Given the description of an element on the screen output the (x, y) to click on. 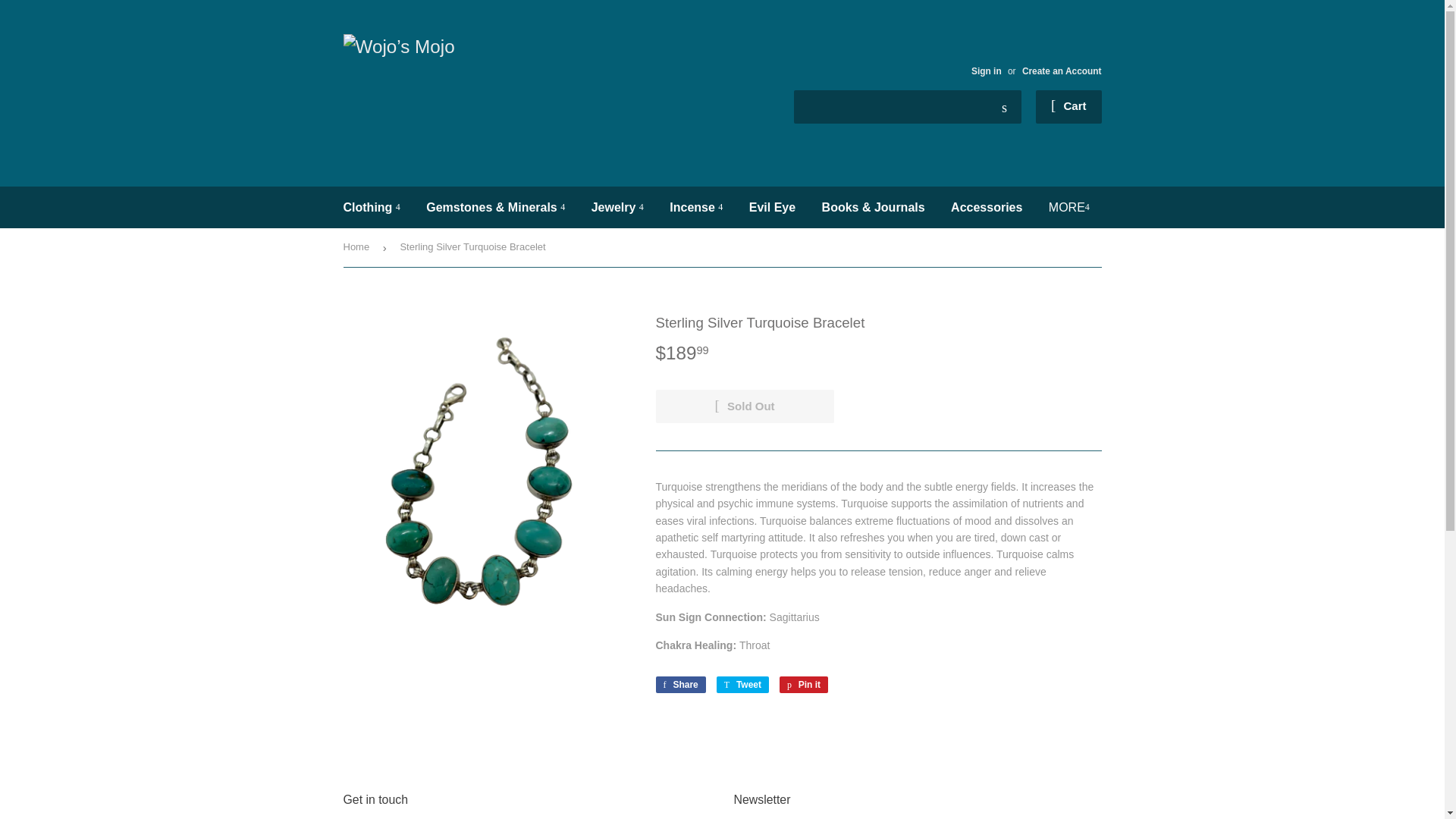
Sign in (986, 71)
Share on Facebook (679, 684)
Pin on Pinterest (803, 684)
Cart (1068, 106)
Search (1004, 107)
Create an Account (1062, 71)
Tweet on Twitter (742, 684)
